Given the description of an element on the screen output the (x, y) to click on. 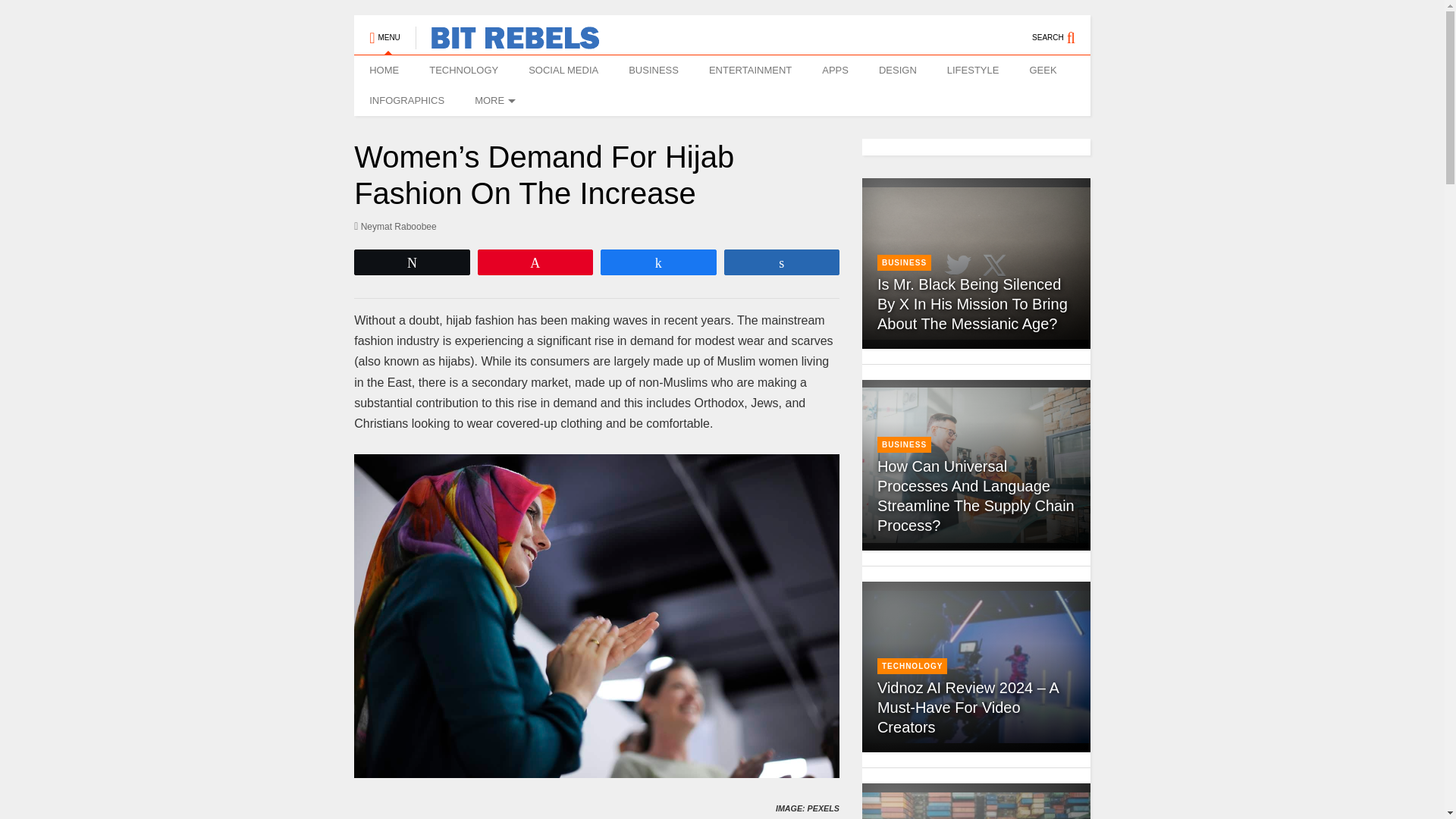
SOCIAL MEDIA (562, 70)
BUSINESS (653, 70)
GEEK (1042, 70)
MENU (383, 30)
Bit Rebels (506, 42)
SEARCH (1061, 30)
